Given the description of an element on the screen output the (x, y) to click on. 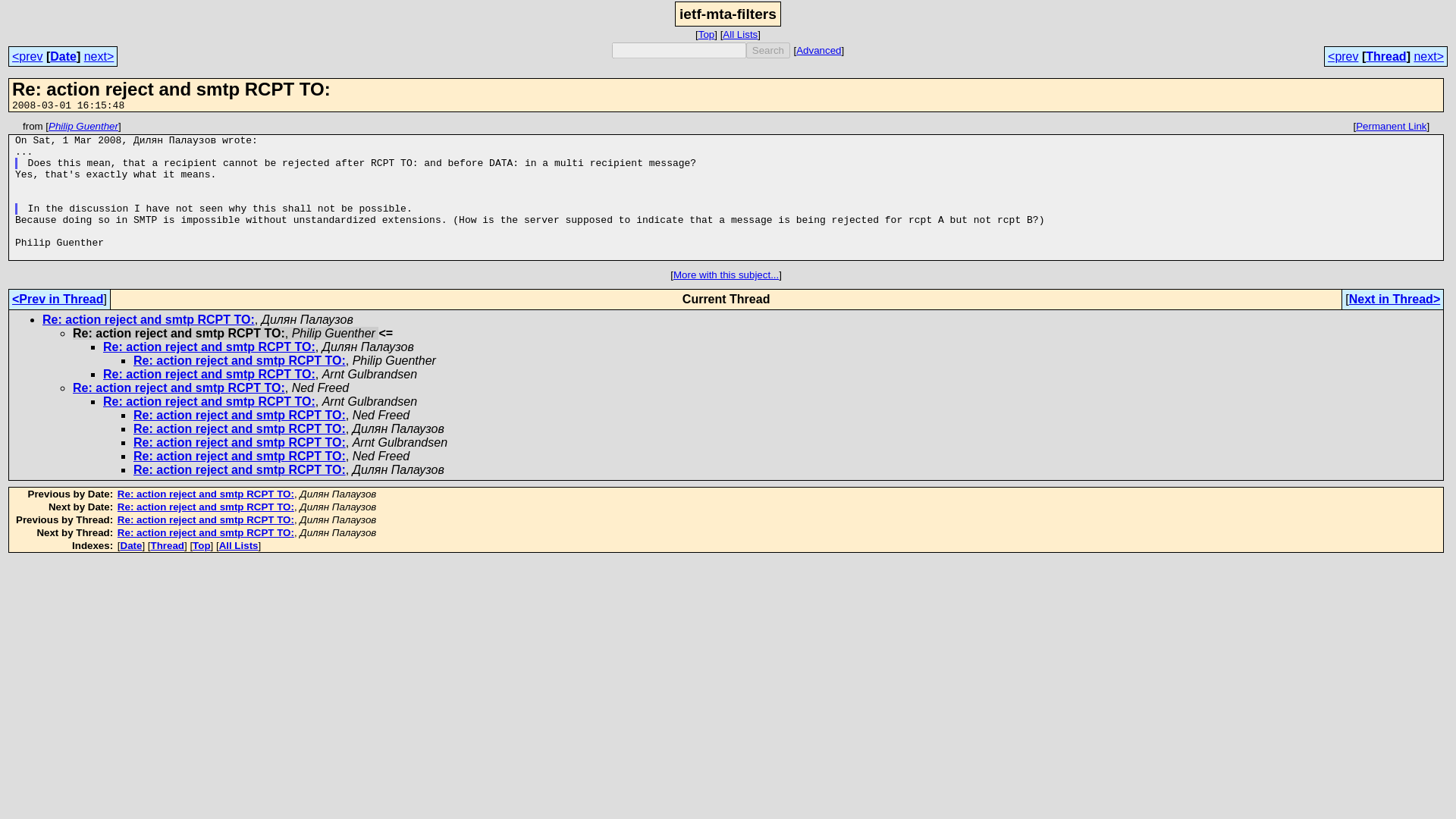
Permanent Link (1390, 125)
Advanced (818, 50)
Re: action reject and smtp RCPT TO: (209, 346)
Re: action reject and smtp RCPT TO: (239, 441)
Re: action reject and smtp RCPT TO: (239, 414)
More with this subject... (725, 274)
Re: action reject and smtp RCPT TO: (148, 318)
Re: action reject and smtp RCPT TO: (205, 519)
All Lists (739, 34)
Search (767, 50)
